Given the description of an element on the screen output the (x, y) to click on. 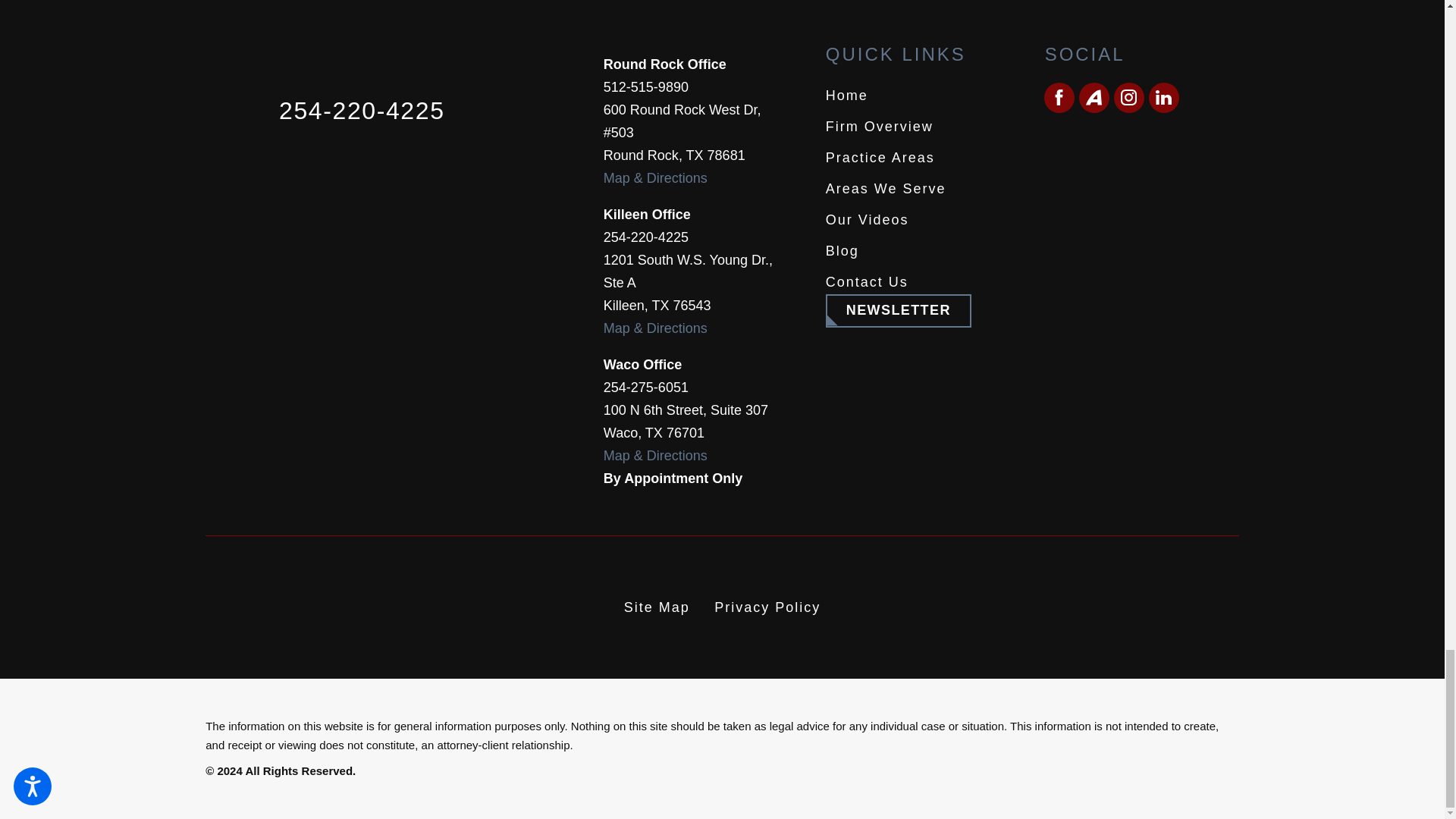
Facebook (1058, 97)
Instagram (1128, 97)
LinkedIn (1163, 97)
Avvo (1093, 97)
